Given the description of an element on the screen output the (x, y) to click on. 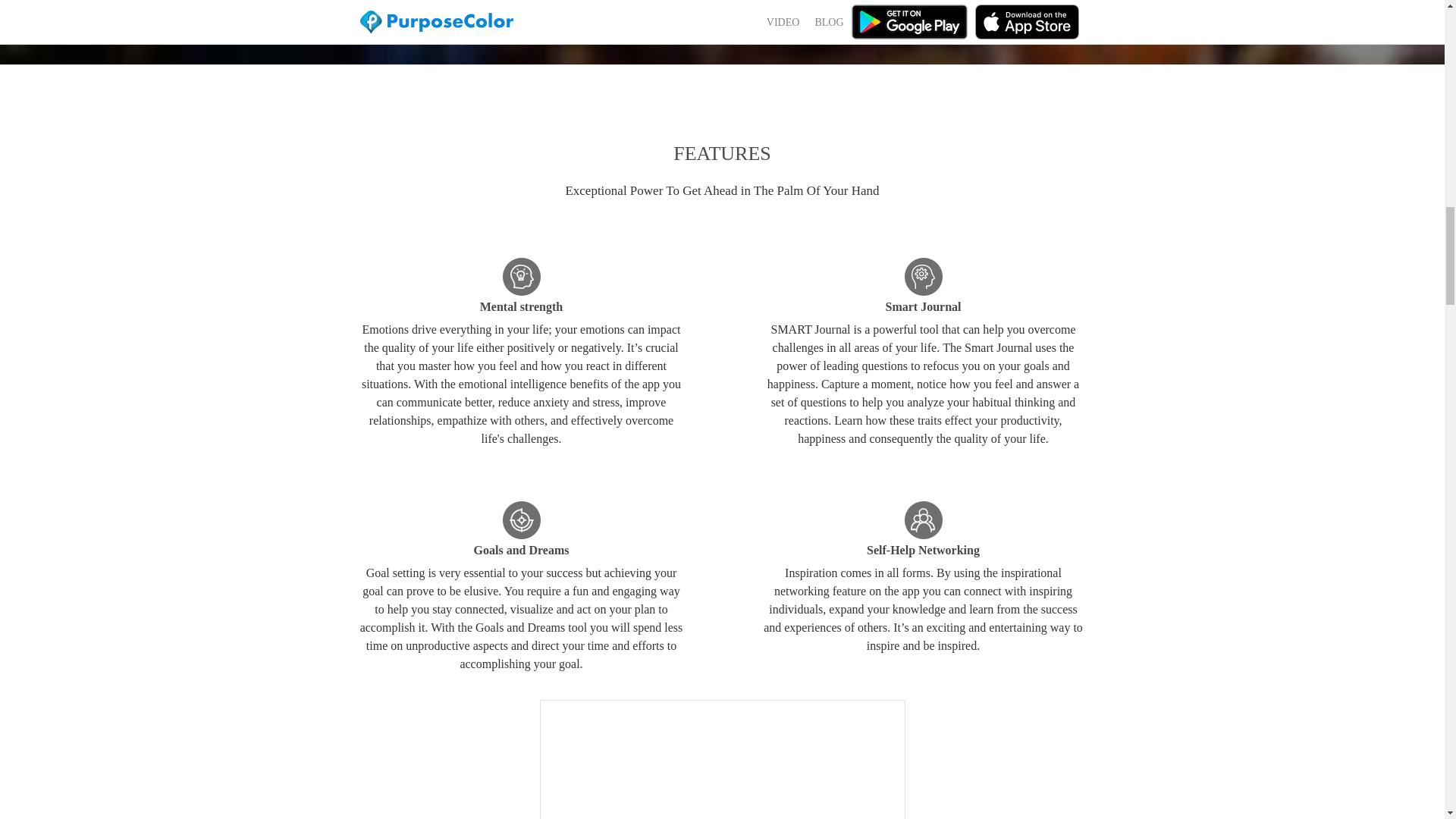
Goal setting app for free (521, 519)
The best self help app in online (923, 519)
Best productivity app (521, 276)
Daily smart journal app (923, 276)
